Given the description of an element on the screen output the (x, y) to click on. 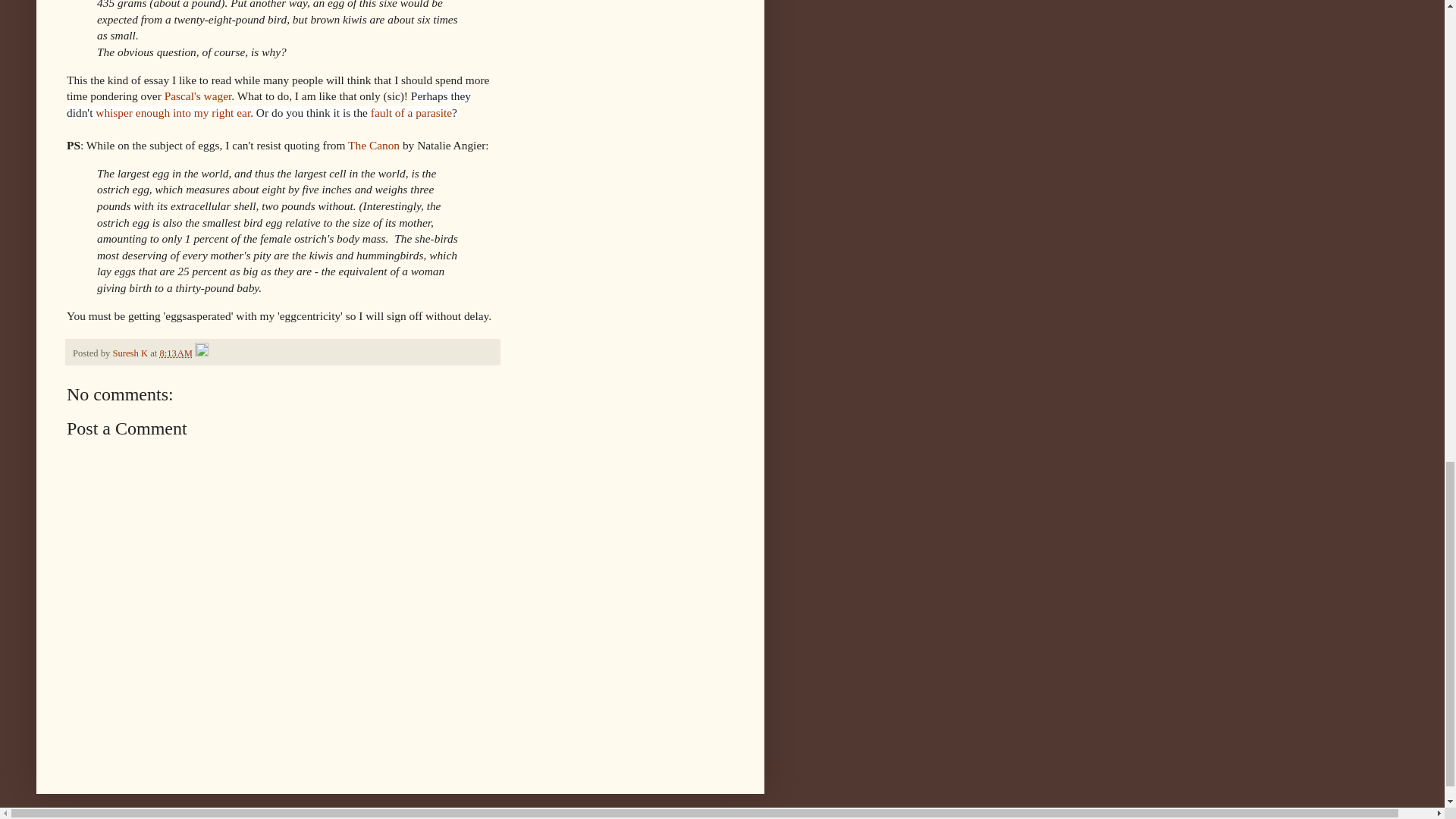
permanent link (175, 353)
fault of a parasite (411, 112)
Pascal's wager (197, 95)
The Canon (372, 144)
Suresh K (130, 353)
Edit Post (201, 353)
author profile (130, 353)
whisper enough into my right ear (173, 112)
